Given the description of an element on the screen output the (x, y) to click on. 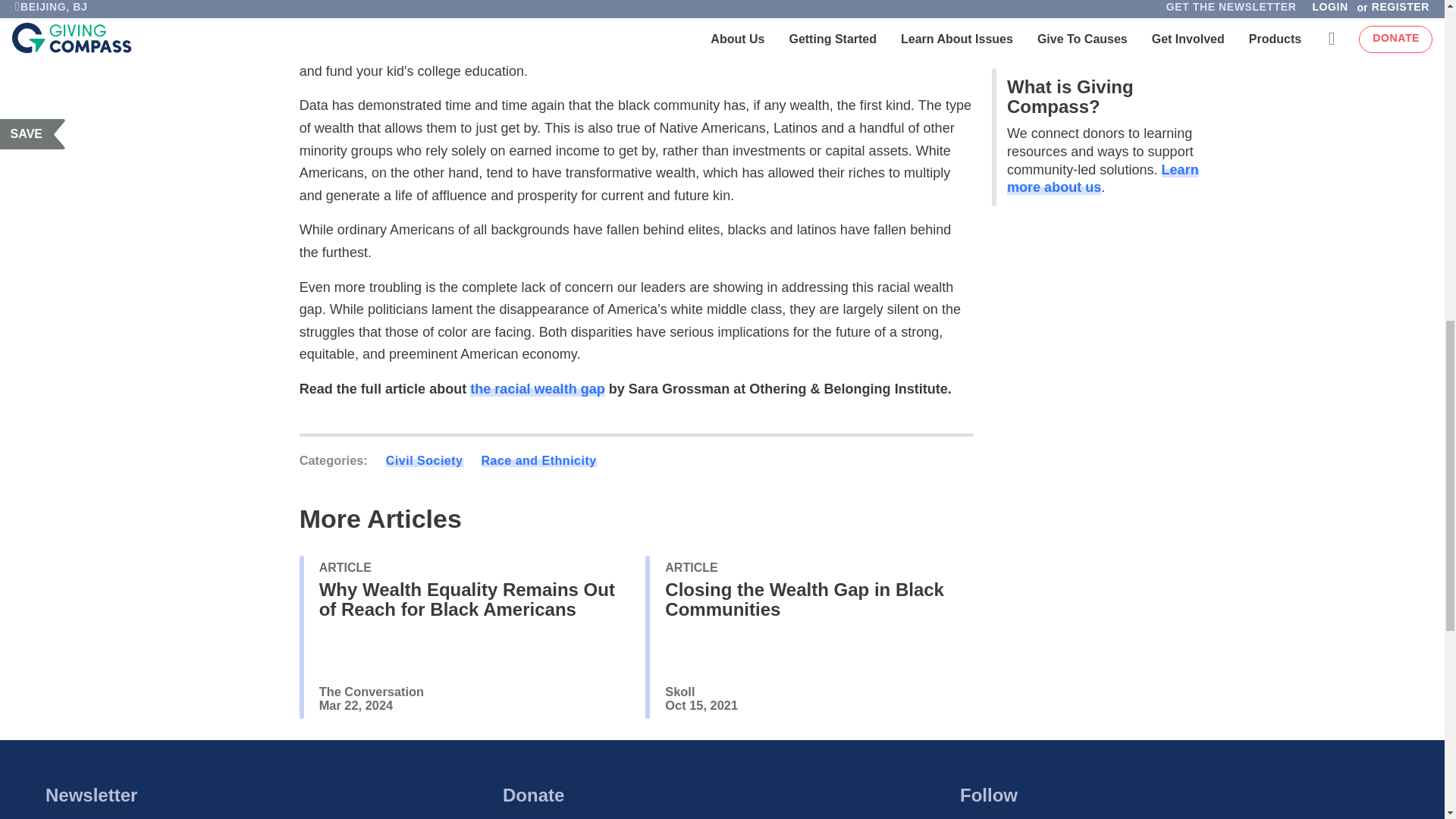
the racial wealth gap (537, 388)
Race and Ethnicity (537, 460)
Civil Society (424, 460)
